Given the description of an element on the screen output the (x, y) to click on. 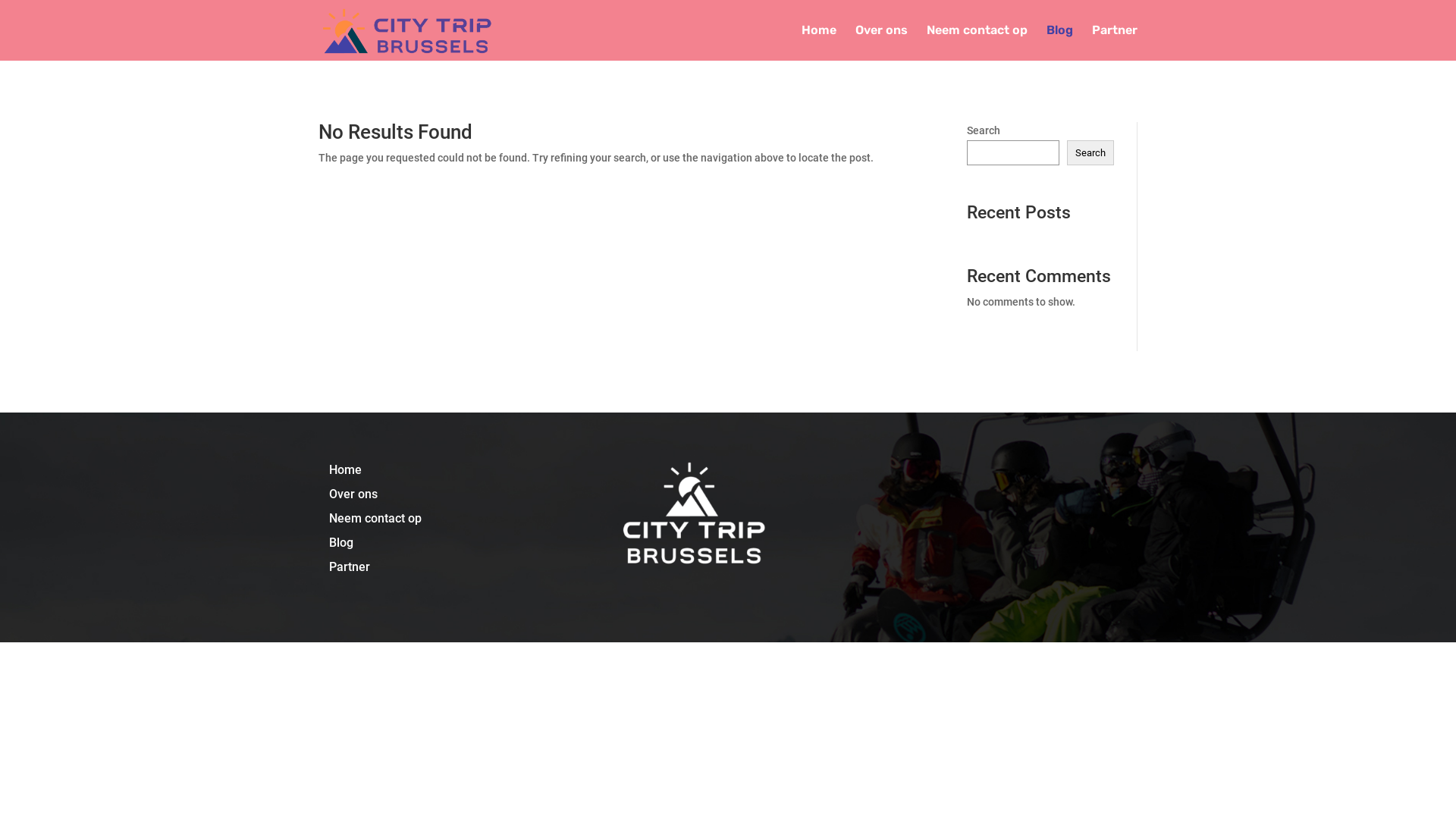
Home Element type: text (818, 42)
Blog Element type: text (341, 542)
Neem contact op Element type: text (976, 42)
Partner Element type: text (1114, 42)
Home Element type: text (345, 469)
Over ons Element type: text (881, 42)
Over ons Element type: text (353, 493)
Neem contact op Element type: text (375, 518)
Blog Element type: text (1059, 42)
Partner Element type: text (349, 566)
Search Element type: text (1089, 152)
